Given the description of an element on the screen output the (x, y) to click on. 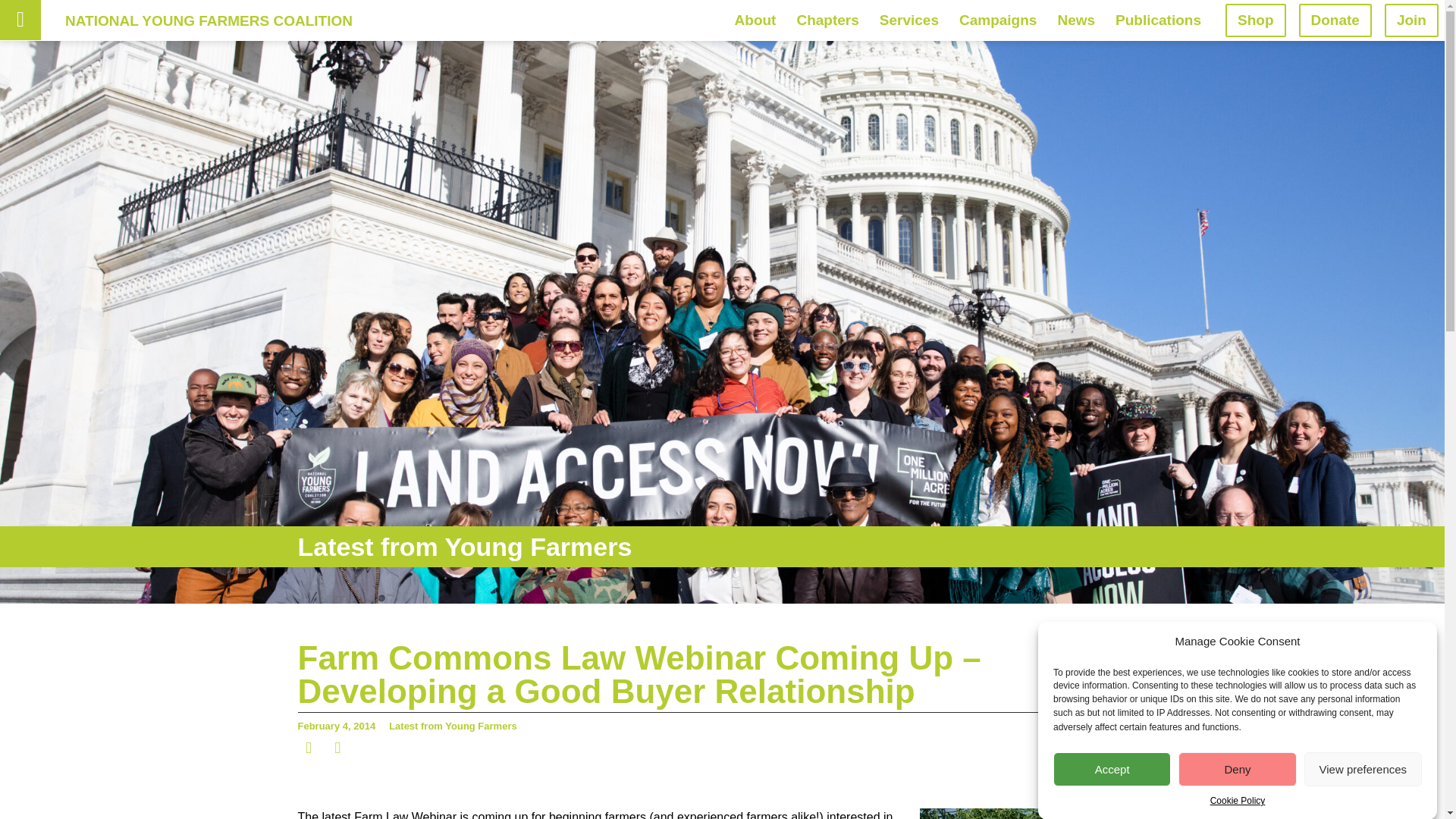
Chapters (827, 20)
Accept (1111, 802)
Services (909, 20)
Join (1411, 20)
View preferences (1363, 790)
About (755, 20)
Donate (1334, 20)
Shop (1255, 20)
Publications (1158, 20)
News (1075, 20)
Campaigns (997, 20)
NATIONAL YOUNG FARMERS COALITION (208, 19)
Cookie Policy (1237, 808)
Deny (1236, 796)
